Given the description of an element on the screen output the (x, y) to click on. 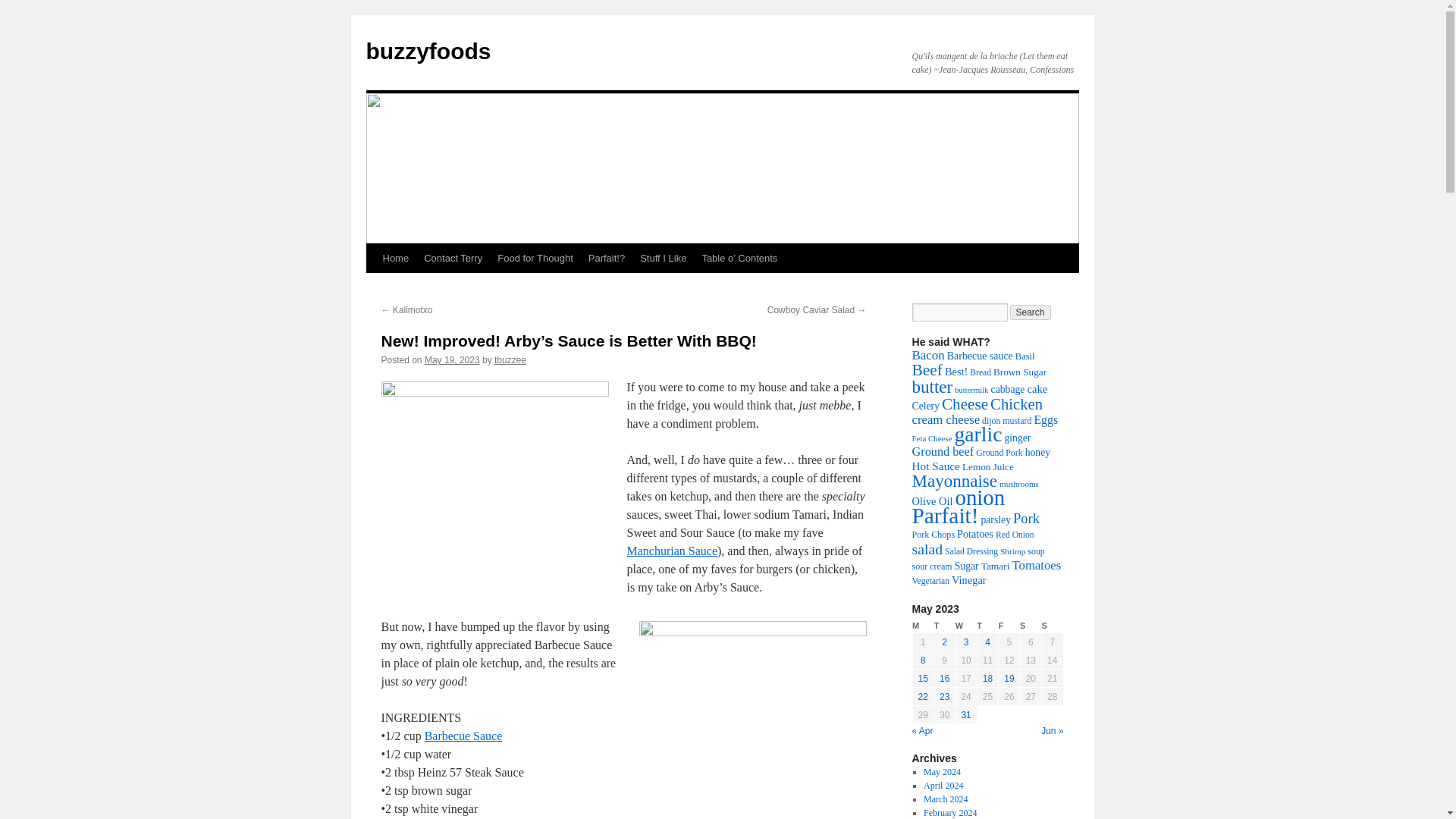
Saturday (1030, 626)
Search (1030, 312)
buzzyfoods (427, 50)
3:51 pm (452, 359)
Wednesday (965, 626)
Friday (1009, 626)
Home (395, 258)
Thursday (986, 626)
Tuesday (944, 626)
Monday (922, 626)
Sunday (1052, 626)
Contact Terry (452, 258)
Parfait!? (605, 258)
Food for Thought (534, 258)
Stuff I Like (662, 258)
